Given the description of an element on the screen output the (x, y) to click on. 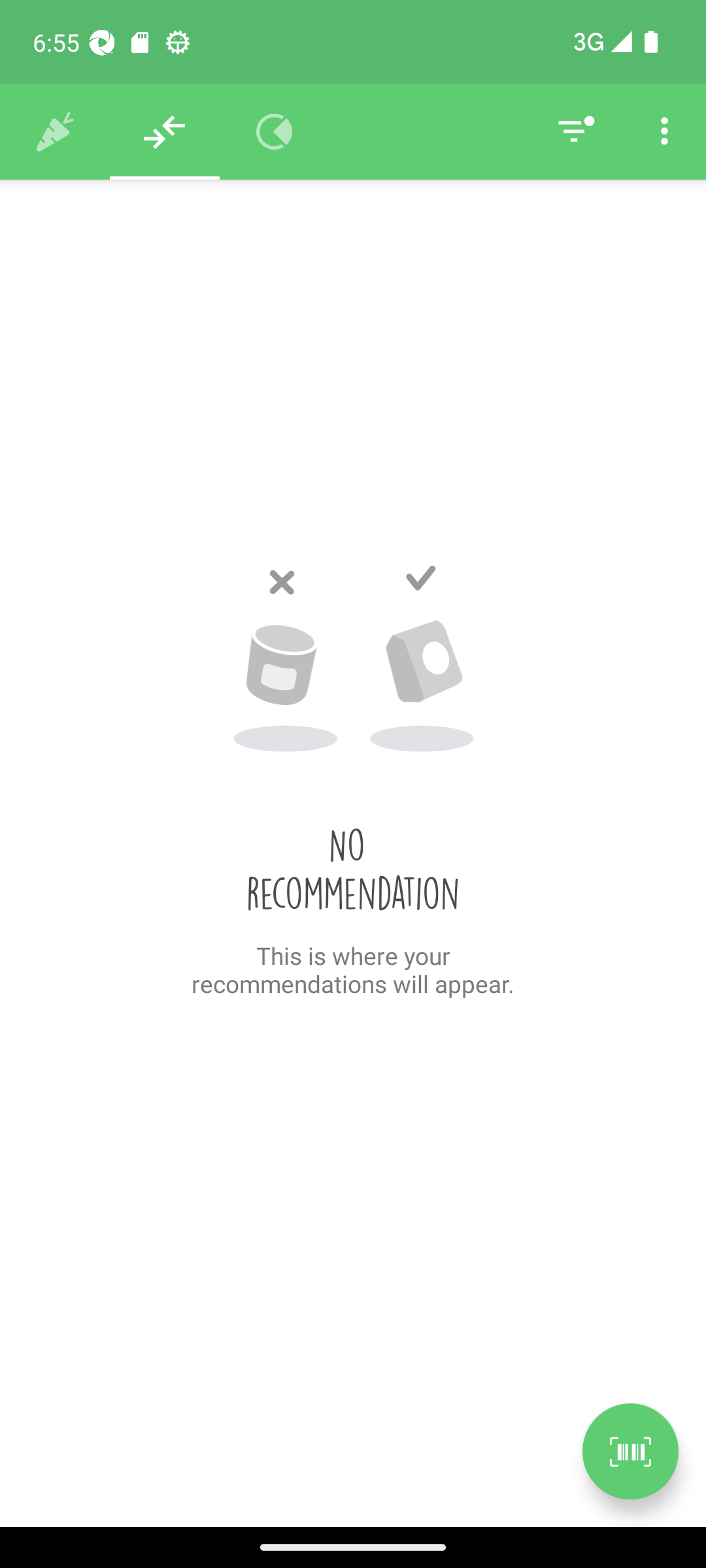
History (55, 131)
Overview (274, 131)
Filter (573, 131)
Settings (664, 131)
Scan a product (630, 1451)
